Given the description of an element on the screen output the (x, y) to click on. 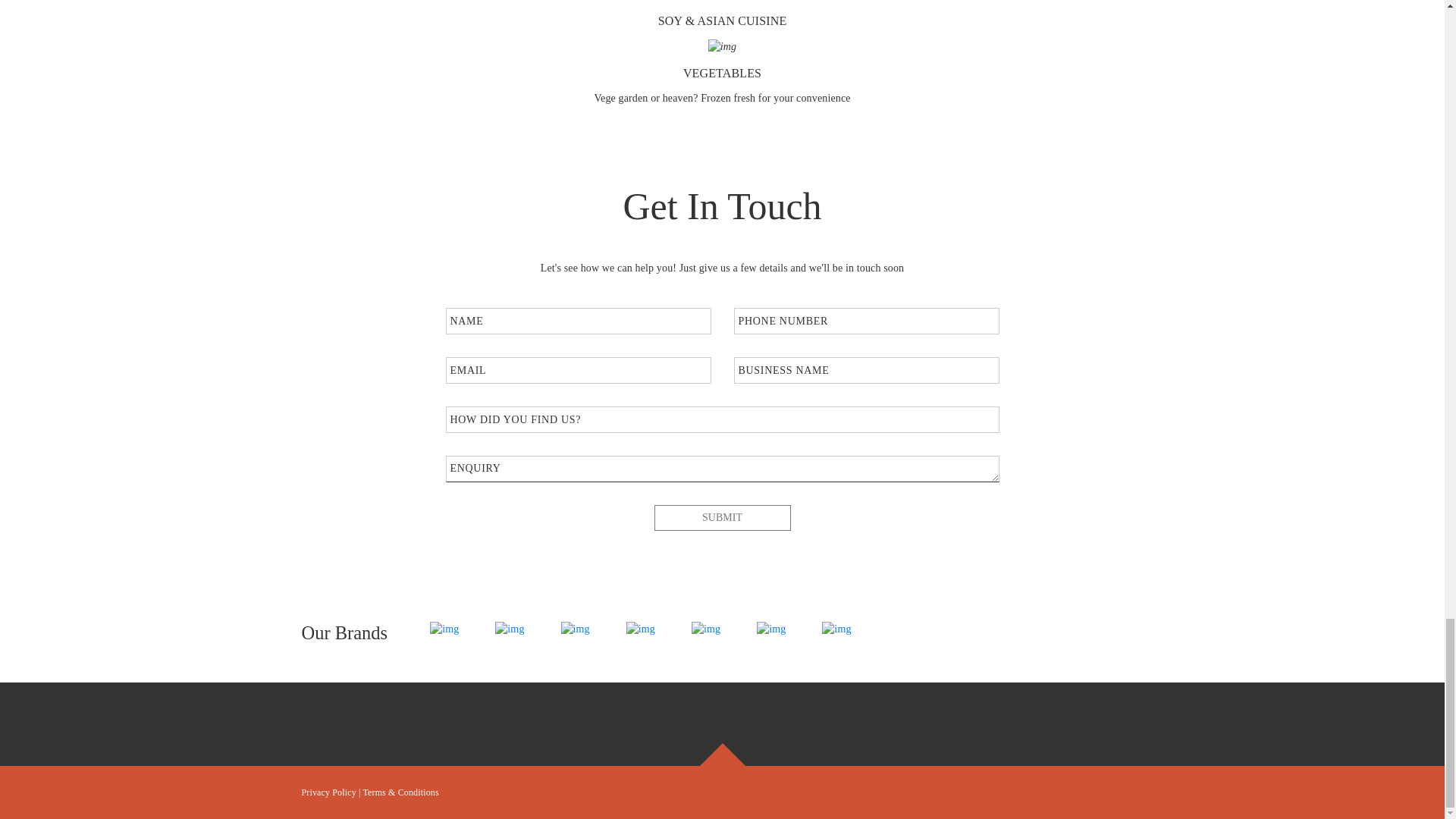
SUBMIT (721, 517)
